Given the description of an element on the screen output the (x, y) to click on. 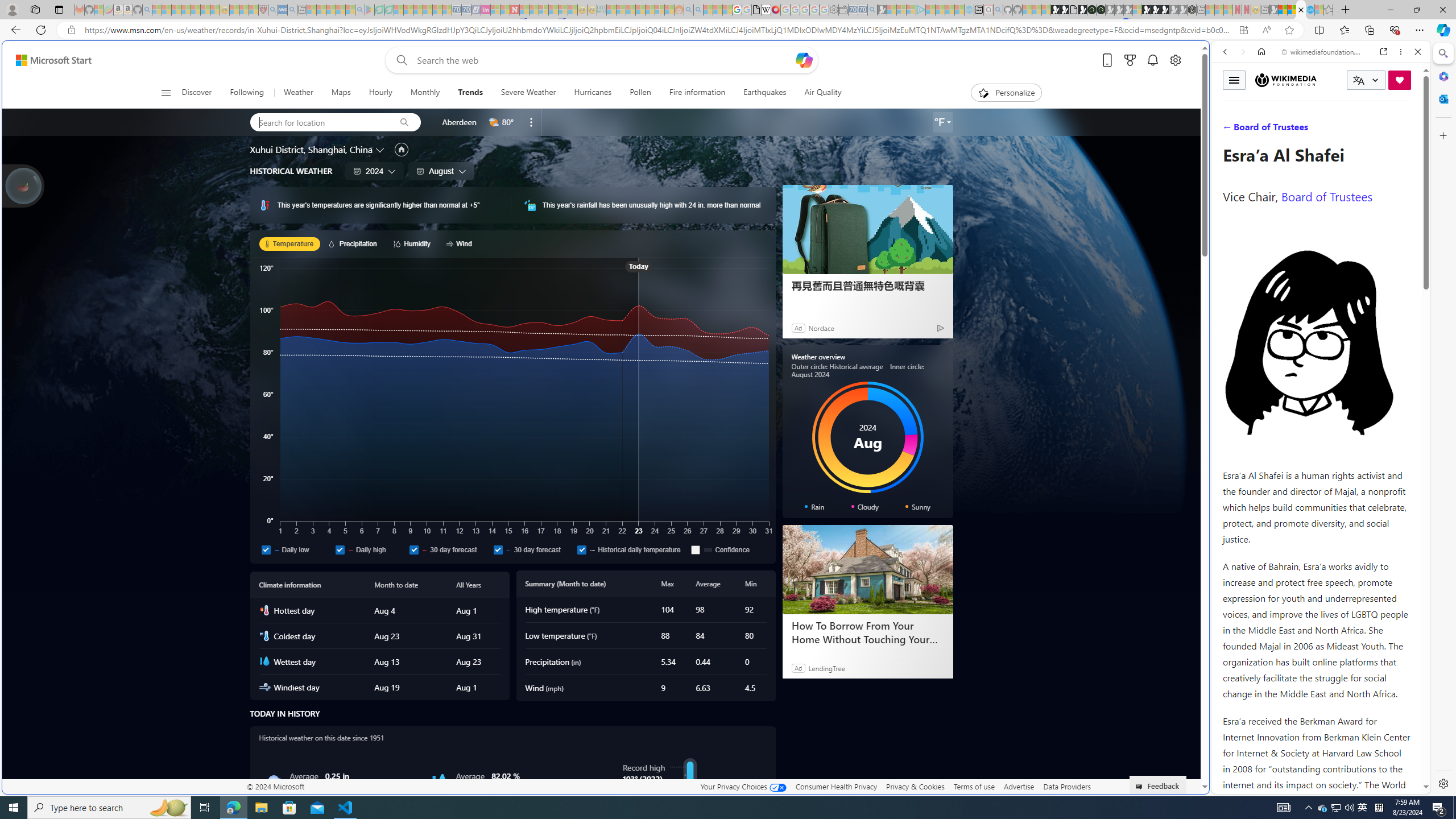
Historical daily temperature (581, 549)
Sign in to your account - Sleeping (1137, 9)
Daily high (370, 549)
Monthly (424, 92)
